Given the description of an element on the screen output the (x, y) to click on. 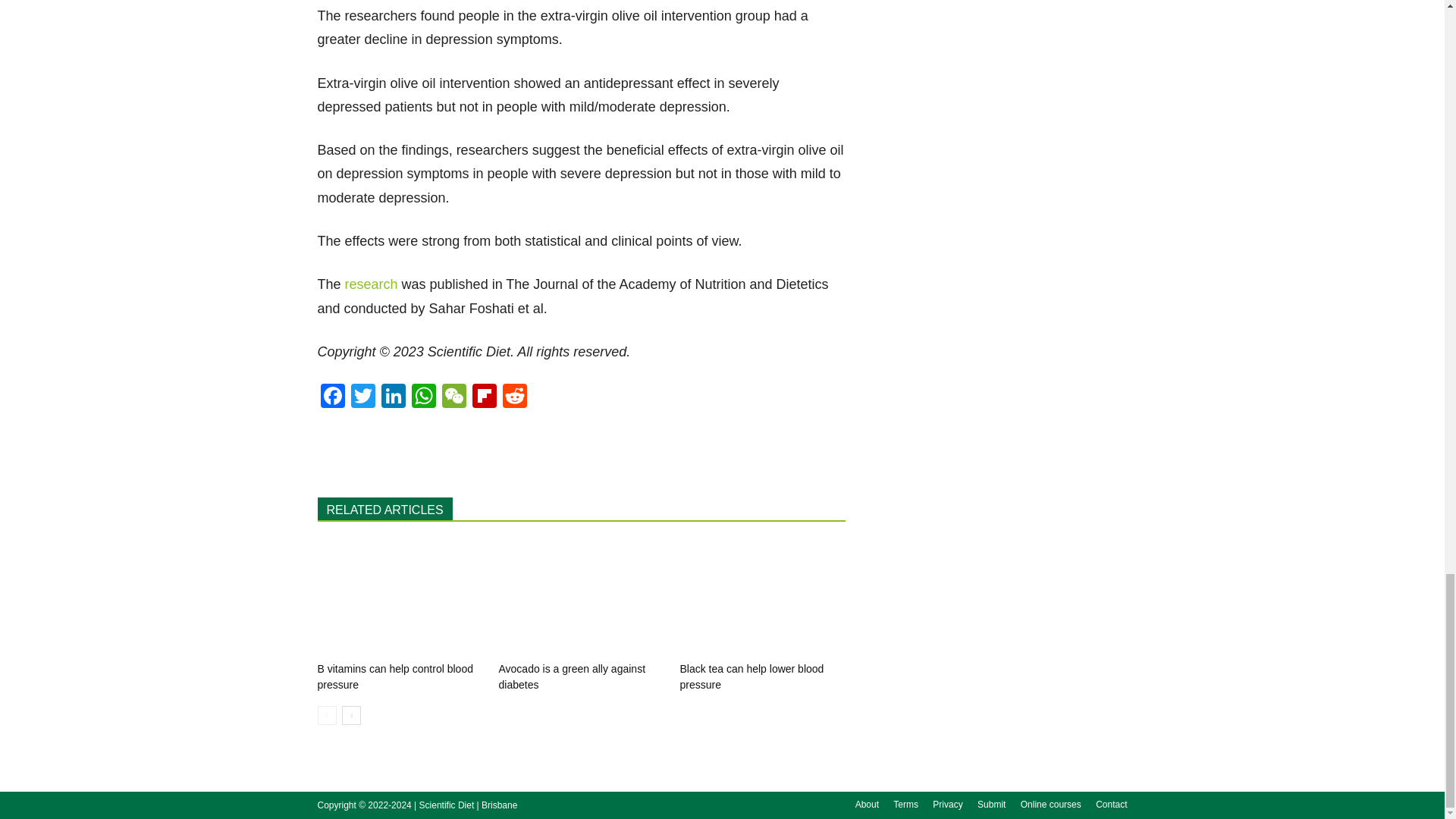
research (371, 283)
WeChat (453, 397)
WhatsApp (422, 397)
Facebook (332, 397)
LinkedIn (392, 397)
Flipboard (483, 397)
Twitter (362, 397)
